Given the description of an element on the screen output the (x, y) to click on. 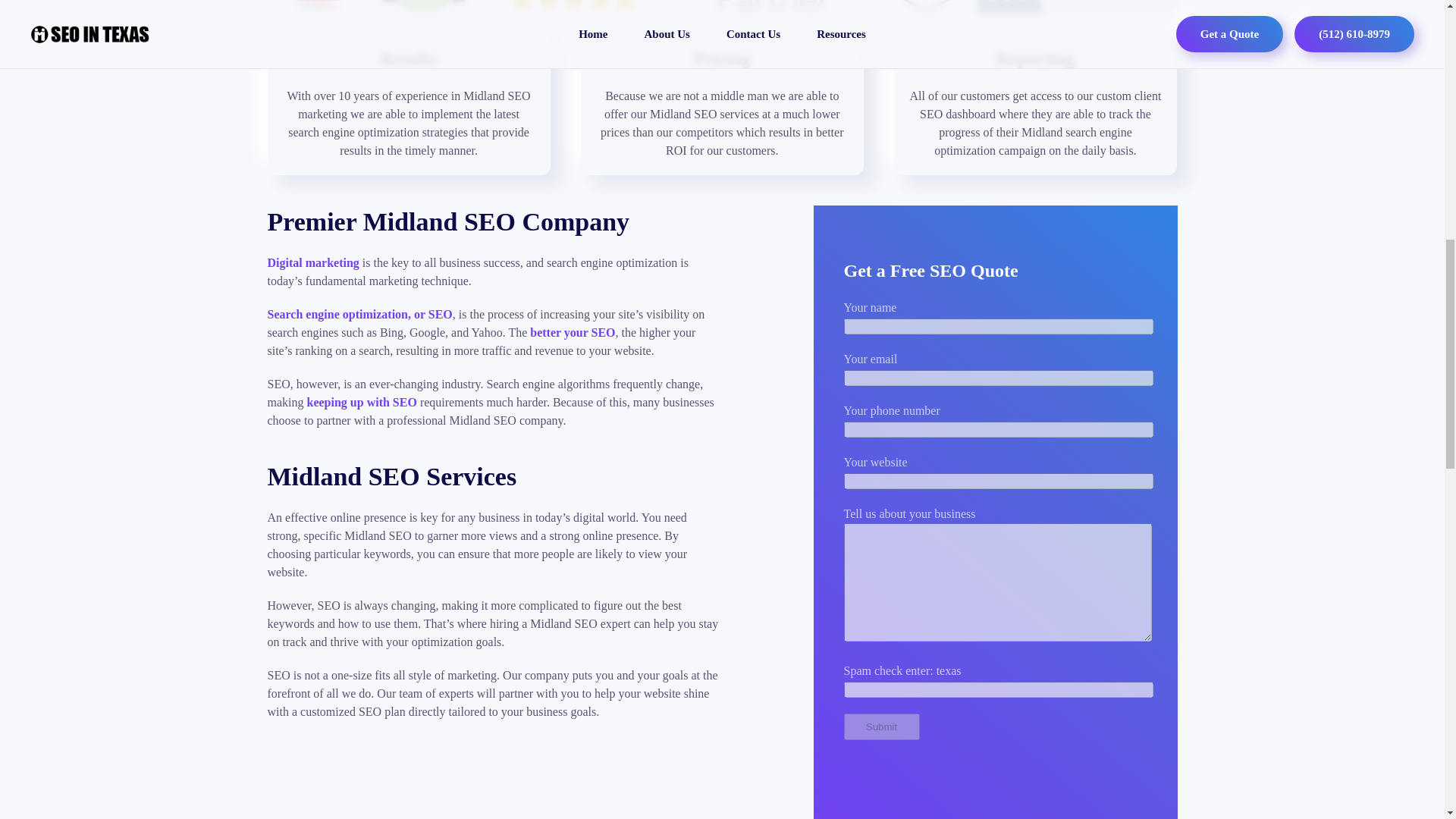
Submit (880, 726)
Digital marketing (312, 262)
Submit (880, 726)
keeping up with SEO (360, 401)
better your SEO (571, 332)
Search engine optimization, or SEO (358, 314)
